Given the description of an element on the screen output the (x, y) to click on. 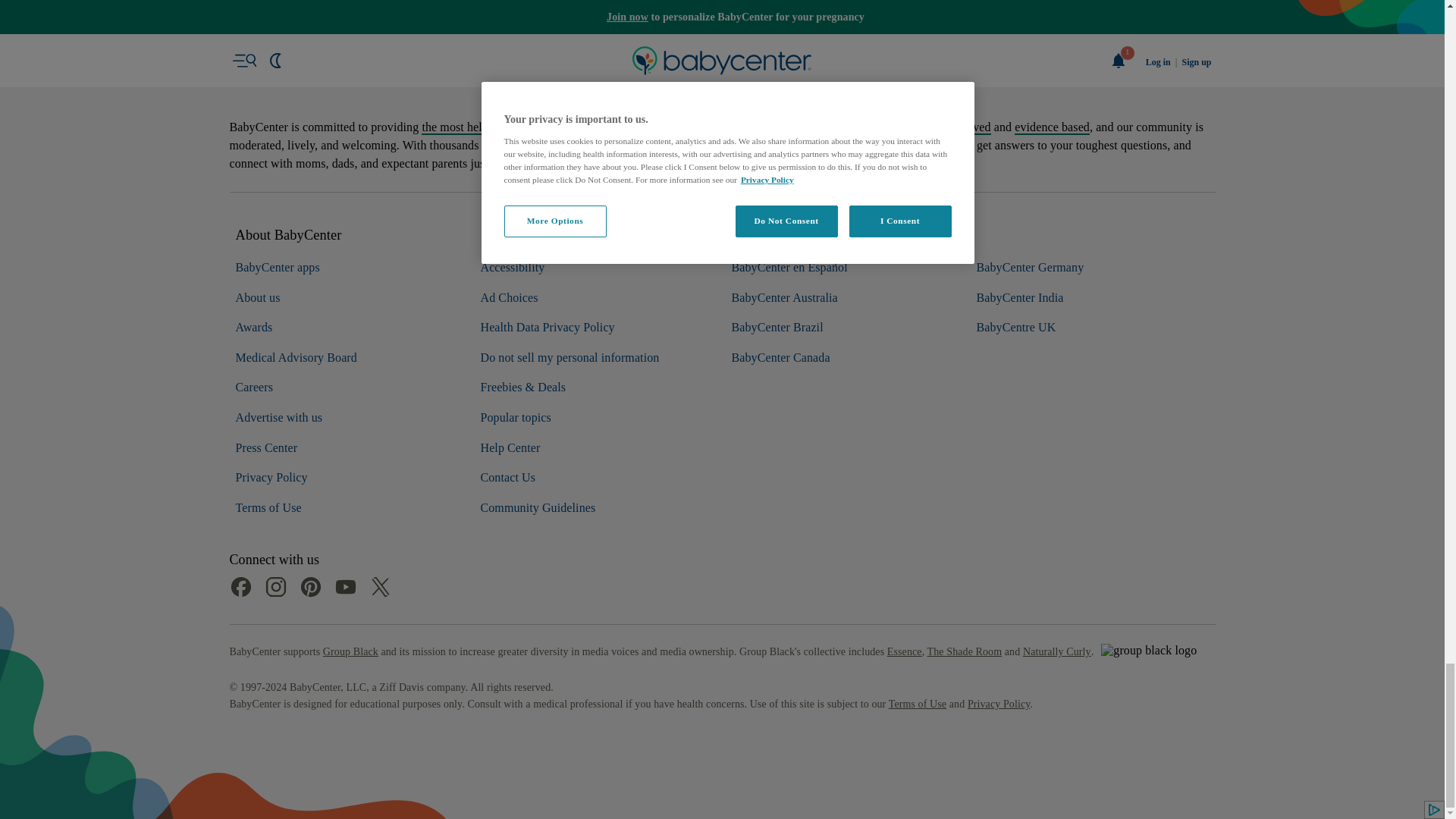
BabyCenter Facebook page (239, 546)
BabyCenter YouTube channel (344, 546)
BabyCenter Instagram feed (274, 546)
BabyCenter Pinterest board (309, 546)
BabyCenter Twitter feed (379, 546)
